Given the description of an element on the screen output the (x, y) to click on. 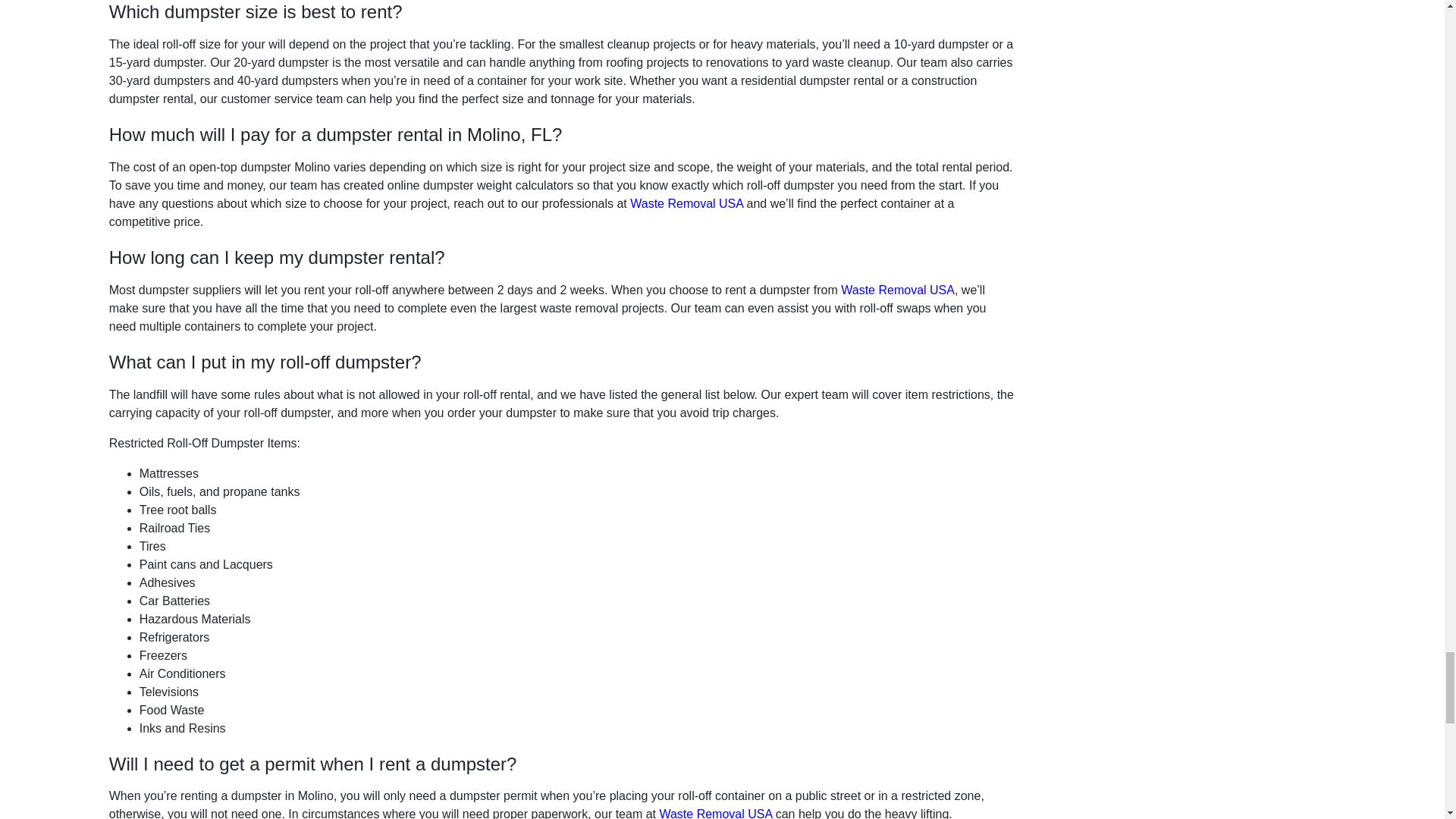
Waste Removal USA (715, 813)
Waste Removal USA (686, 203)
Waste Removal USA (898, 289)
